Given the description of an element on the screen output the (x, y) to click on. 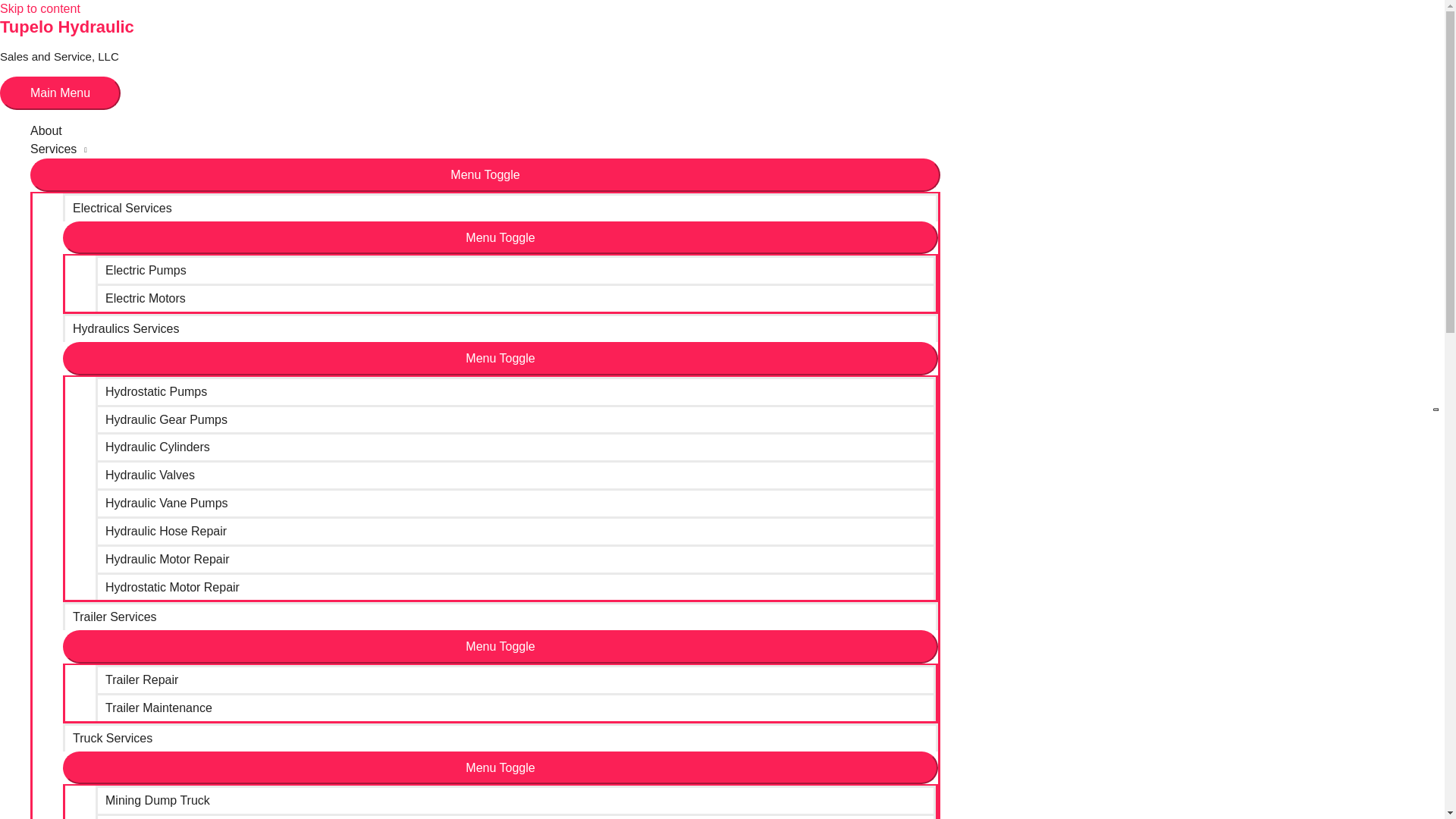
Hydraulic Cylinders (516, 446)
Tupelo Hydraulic (66, 26)
Main Menu (60, 92)
Hydraulic Motor Repair (516, 558)
About (485, 131)
Menu Toggle (499, 237)
Electric Pumps (516, 269)
Trailer Maintenance (516, 706)
Hydraulic Valves (516, 474)
Services (485, 149)
Hydraulic Hose Repair (516, 530)
Menu Toggle (499, 767)
Electric Motors (516, 297)
Hydrostatic Motor Repair (516, 586)
Hydraulic Vane Pumps (516, 502)
